Given the description of an element on the screen output the (x, y) to click on. 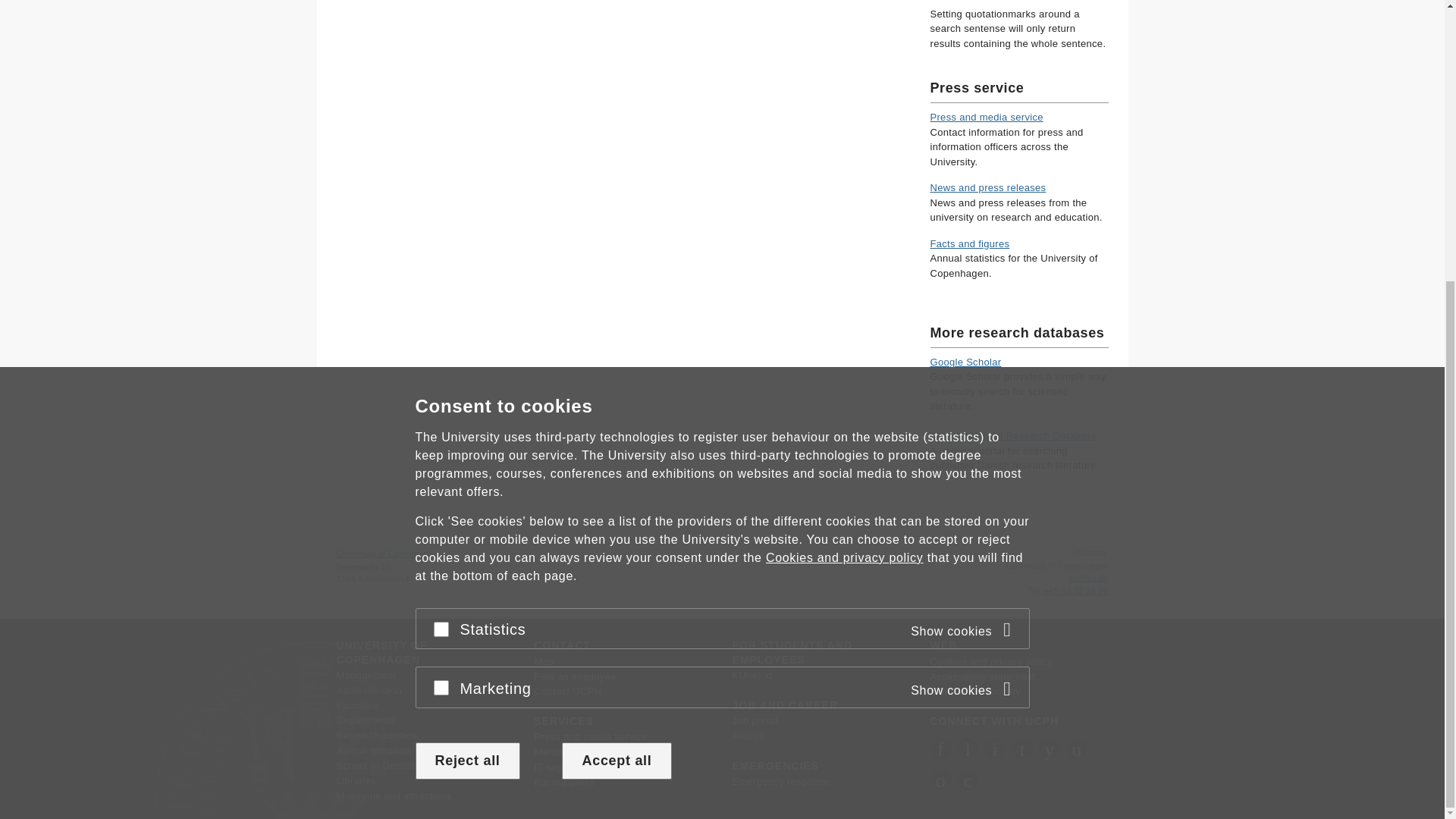
Facts and figures (969, 243)
News site (987, 187)
Phone number (1034, 590)
